Given the description of an element on the screen output the (x, y) to click on. 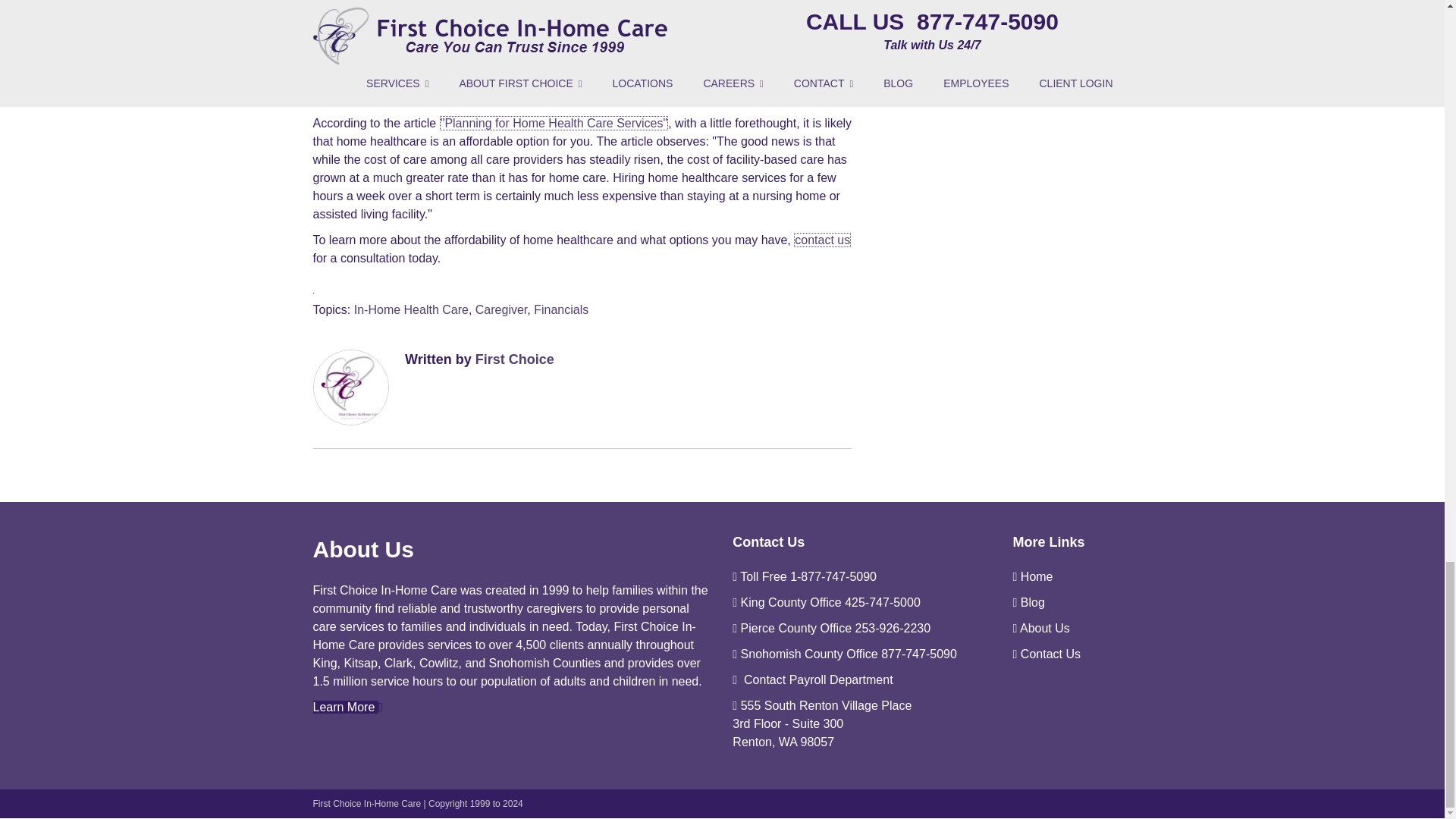
"Planning for Home Health Care Services" (553, 123)
In-Home Health Care (410, 308)
contact us (821, 239)
First Choice (515, 358)
Financials (561, 308)
Caregiver (501, 308)
